Given the description of an element on the screen output the (x, y) to click on. 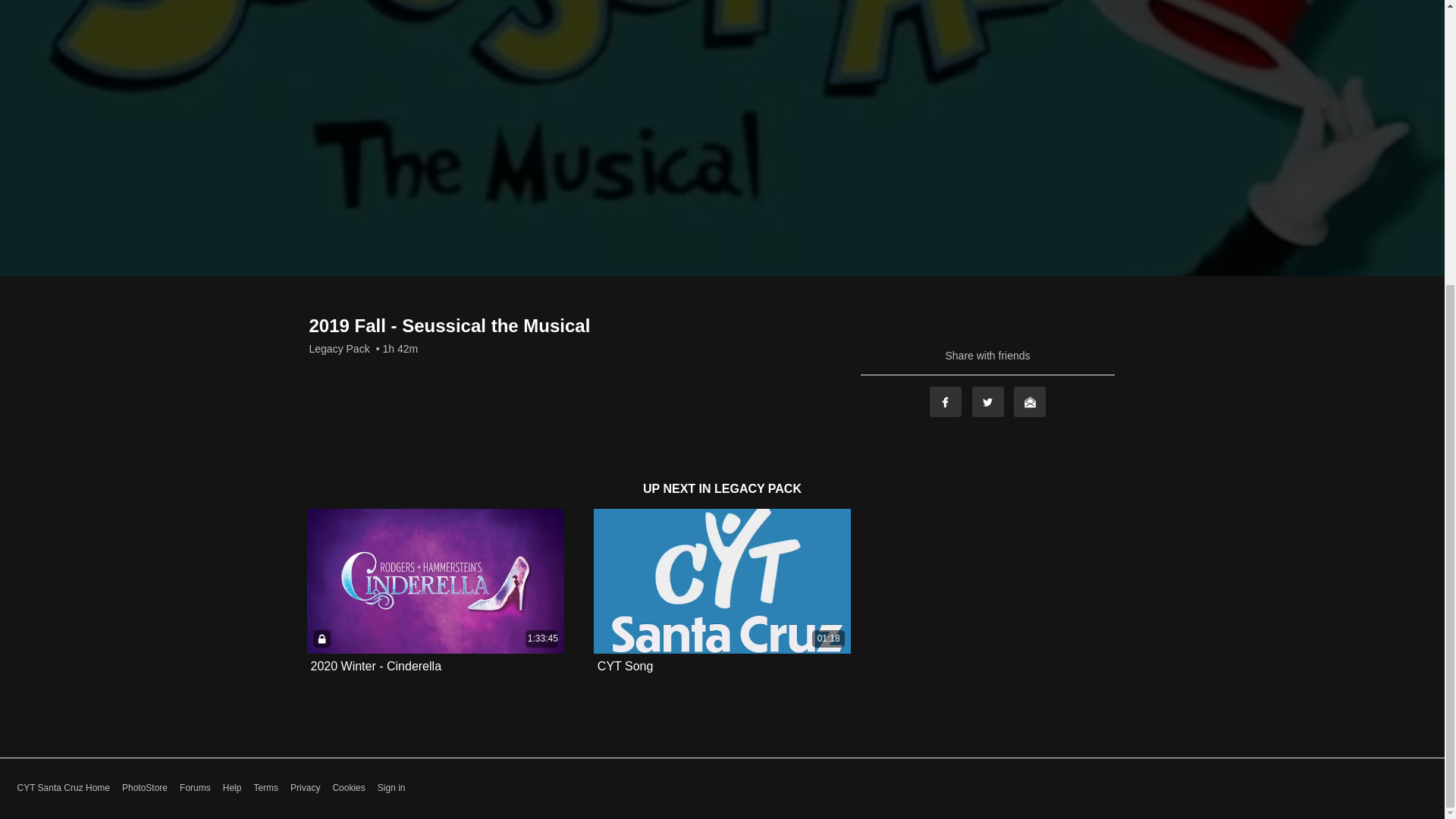
Forums (195, 788)
Terms (265, 788)
Facebook (945, 401)
CYT Santa Cruz Home (63, 788)
2020 Winter - Cinderella (376, 666)
Sign in (391, 788)
CYT Song (624, 666)
LEGACY PACK (758, 488)
01:18 (722, 580)
Legacy Pack (338, 348)
CYT Song (624, 666)
2020 Winter - Cinderella (376, 666)
Help (231, 788)
Cookies (348, 788)
Twitter (988, 401)
